Given the description of an element on the screen output the (x, y) to click on. 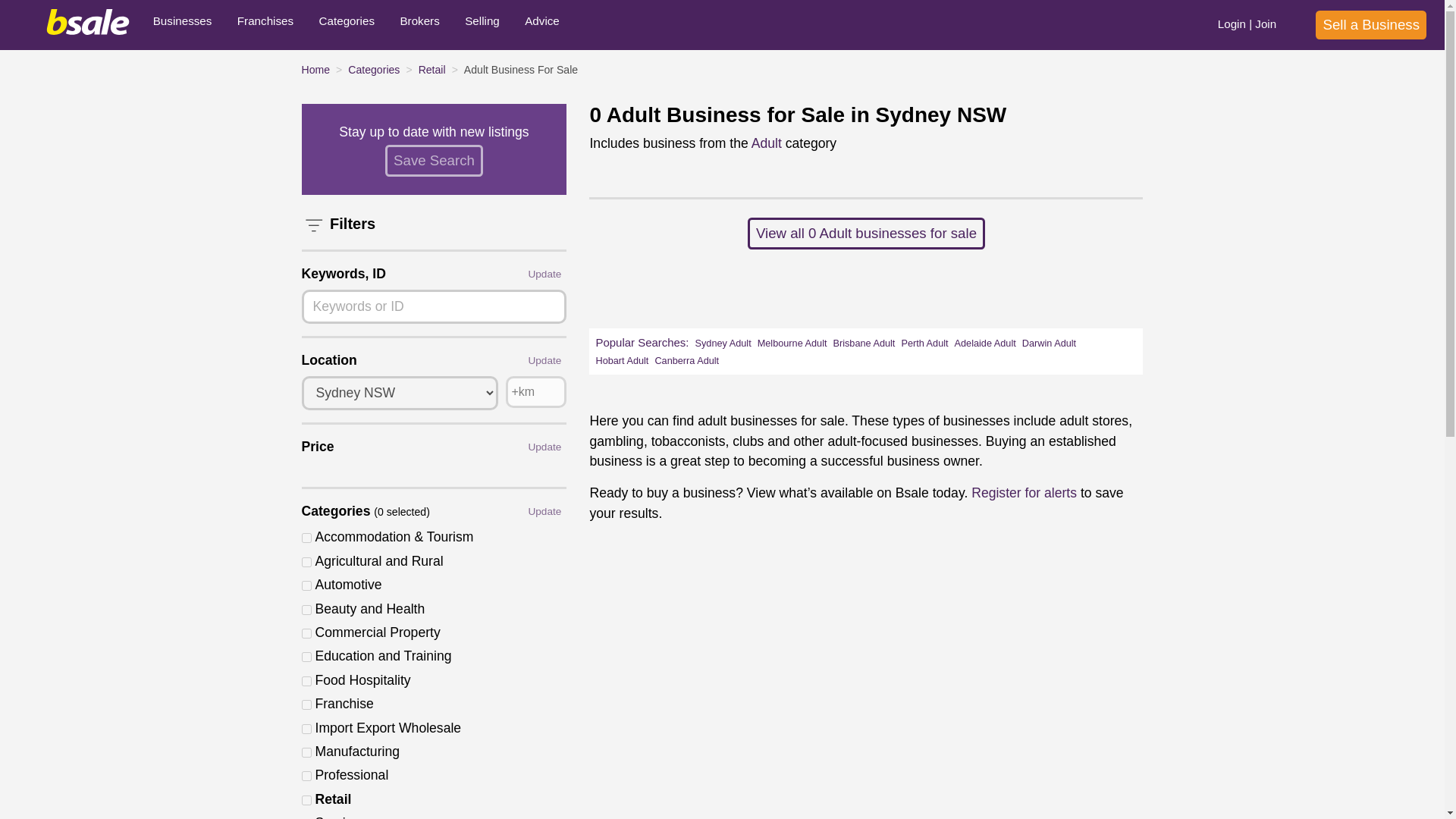
Businesses (181, 24)
8 (306, 728)
5 (306, 681)
3 (306, 610)
6 (306, 705)
1 (306, 537)
2 (306, 585)
13 (306, 562)
32 (306, 633)
9 (306, 752)
4 (306, 656)
12 (306, 800)
11 (306, 776)
